Given the description of an element on the screen output the (x, y) to click on. 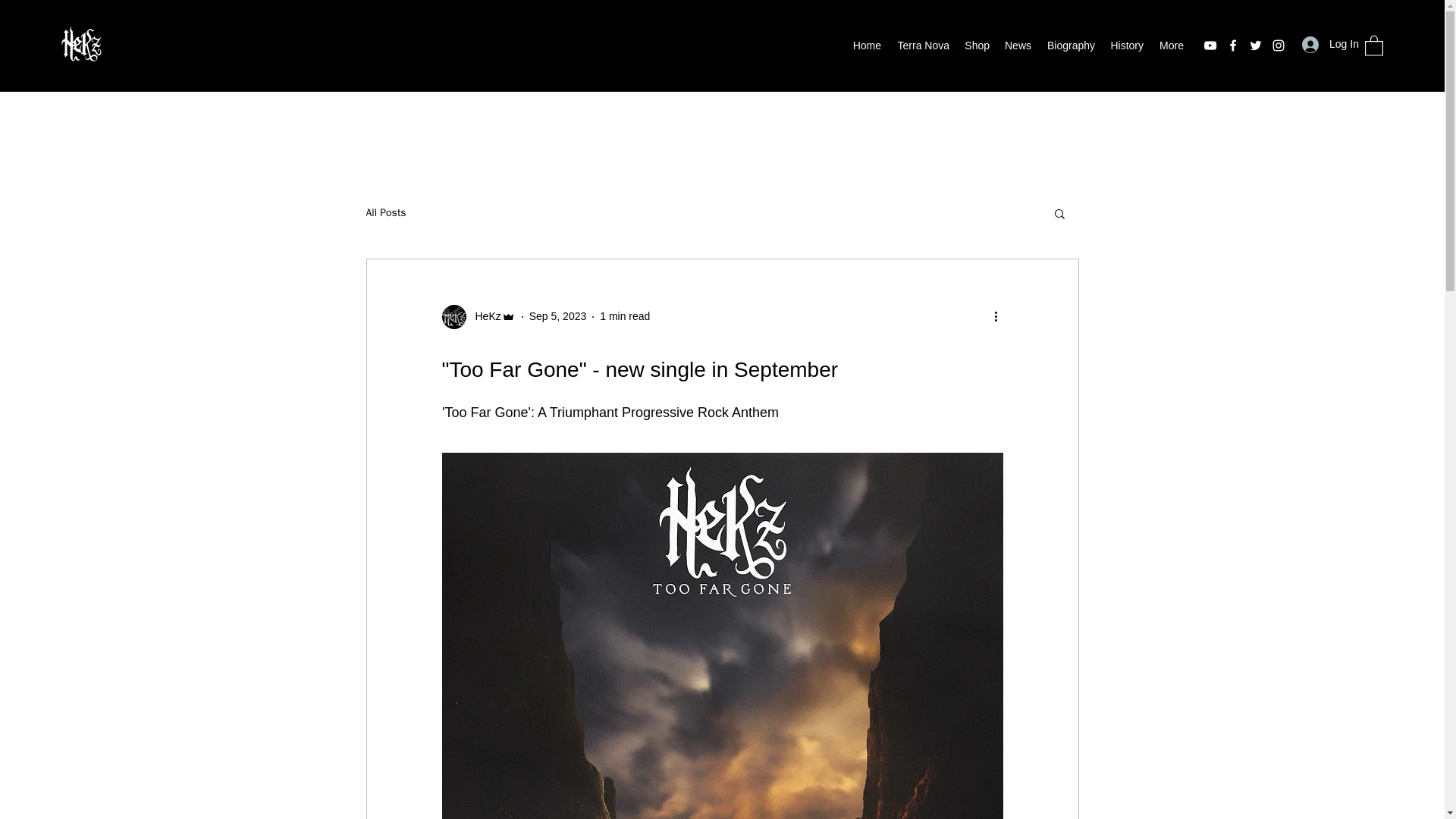
Biography (1070, 45)
History (1126, 45)
Terra Nova (922, 45)
Shop (976, 45)
News (1018, 45)
Log In (1325, 44)
HeKz (482, 316)
Sep 5, 2023 (557, 316)
All Posts (385, 213)
1 min read (624, 316)
HeKz (478, 316)
Home (866, 45)
